Given the description of an element on the screen output the (x, y) to click on. 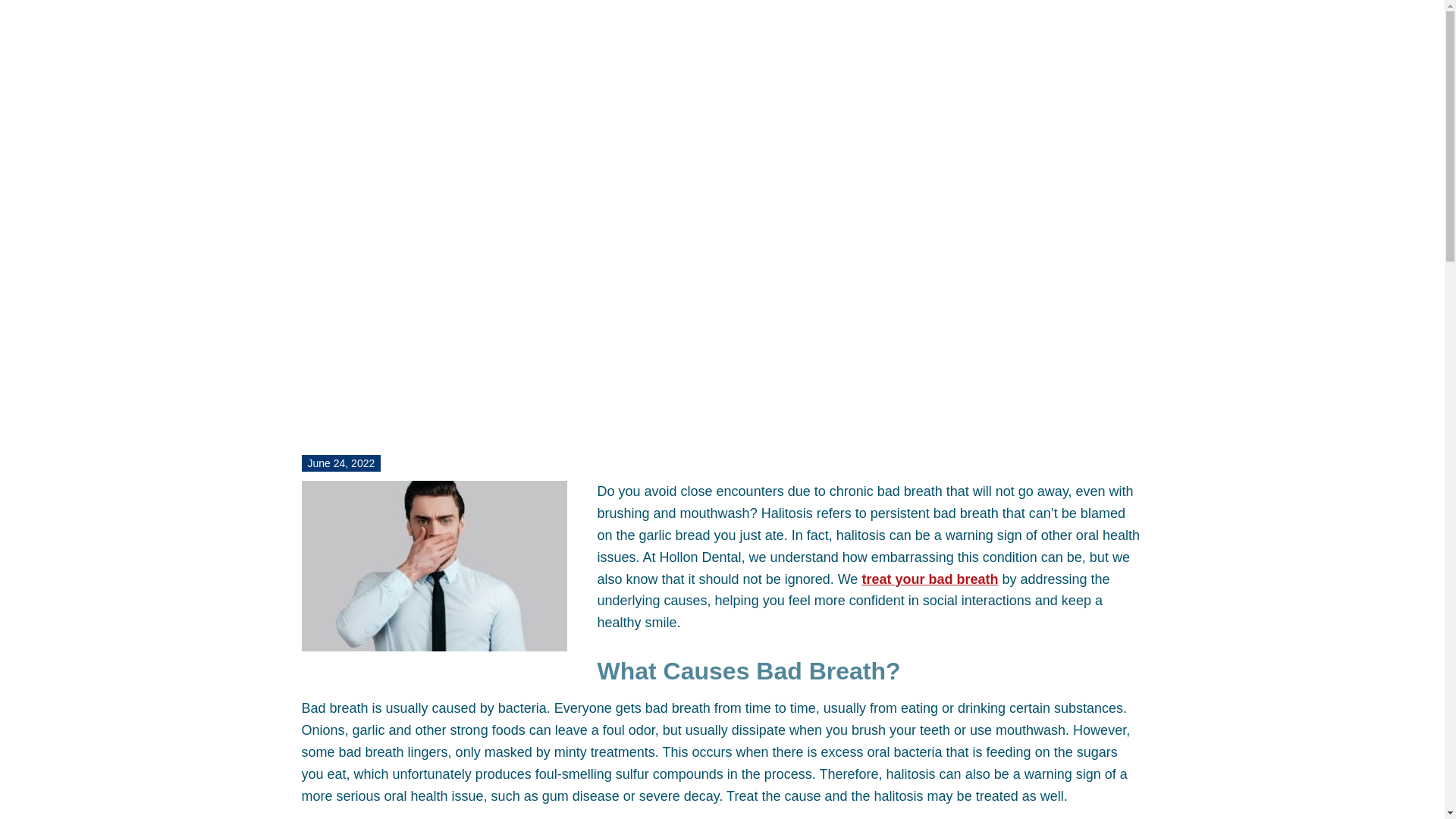
SKIP TO MAIN CONTENT (16, 4)
Mobile AL Halitosis Treatment (929, 579)
